Given the description of an element on the screen output the (x, y) to click on. 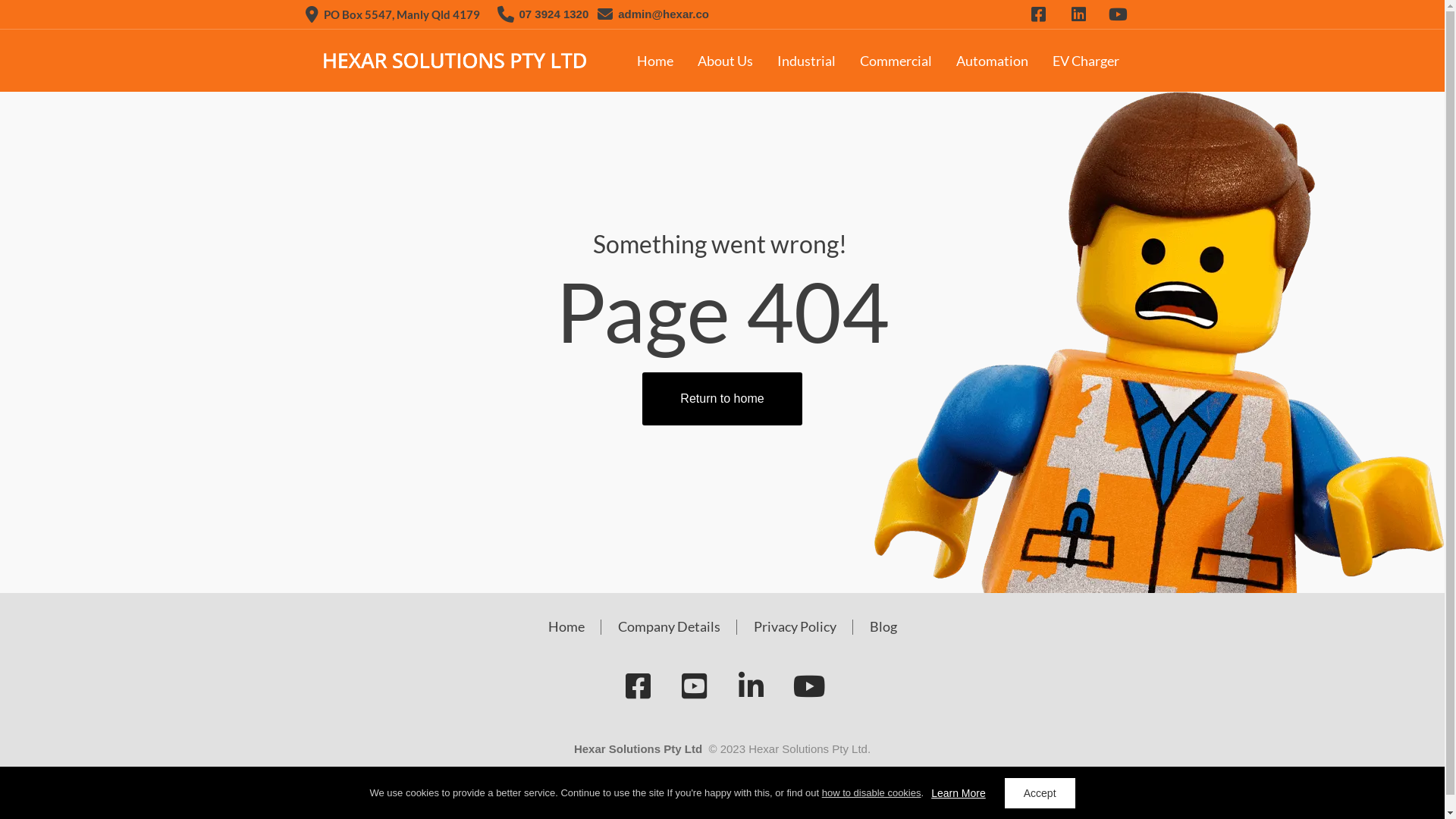
Commercial Element type: text (895, 60)
Privacy Policy Element type: text (795, 627)
Accept Element type: text (1039, 793)
admin@hexar.co Element type: text (663, 13)
Home Element type: text (654, 60)
Learn More Element type: text (958, 792)
Company Details Element type: text (668, 627)
07 3924 1320 Element type: text (553, 13)
Home Element type: text (565, 627)
EV Charger Element type: text (1085, 60)
how to disable cookies Element type: text (871, 792)
Blog Element type: text (882, 627)
Automation Element type: text (991, 60)
Industrial Element type: text (805, 60)
About Us Element type: text (725, 60)
Return to home Element type: text (721, 398)
